Given the description of an element on the screen output the (x, y) to click on. 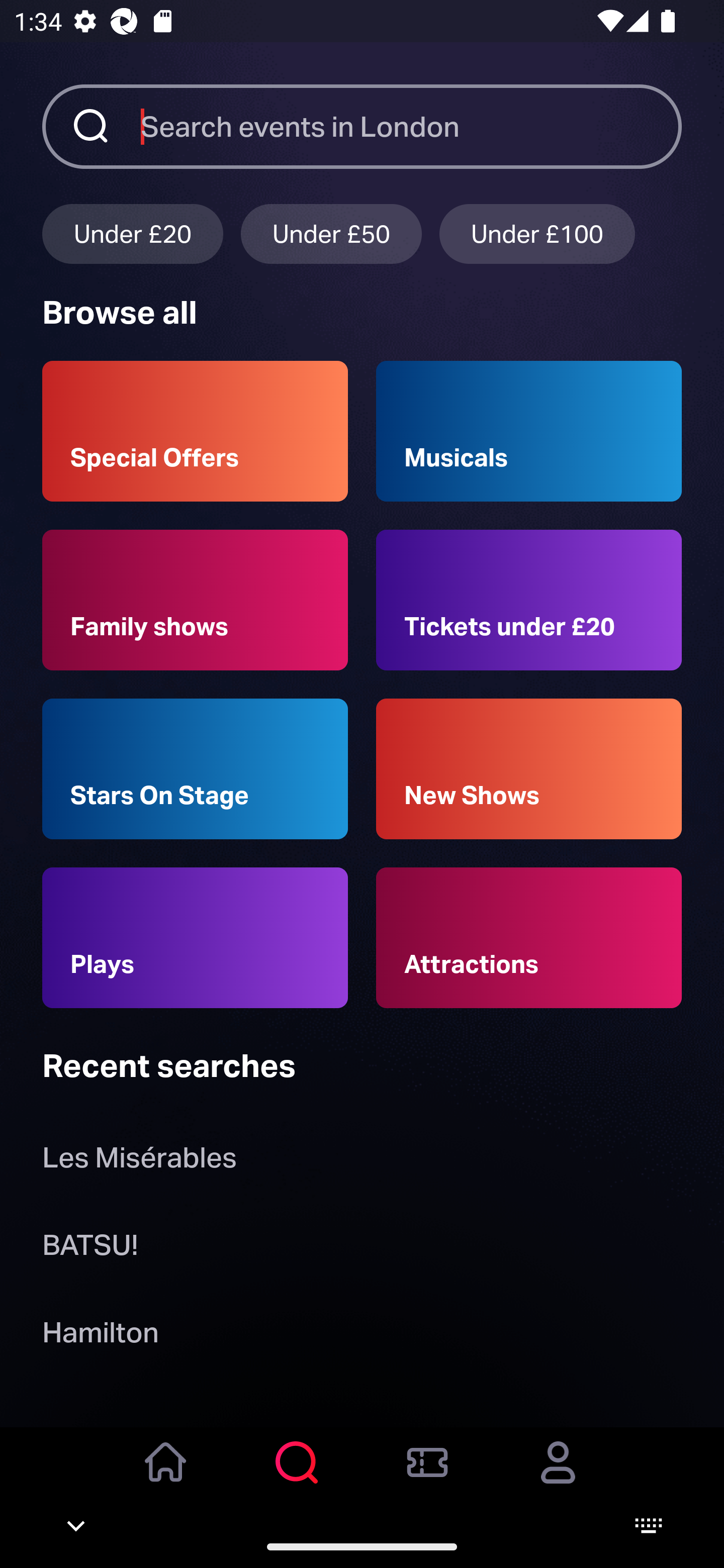
Search events in London (411, 126)
Under £20 (131, 233)
Under £50 (331, 233)
Under £100 (536, 233)
Special Offers (194, 430)
Musicals (528, 430)
Family shows (194, 600)
Tickets under £20  (528, 600)
Stars On Stage (194, 768)
New Shows (528, 768)
Plays (194, 937)
Attractions  (528, 937)
Les Misérables (138, 1161)
BATSU! (89, 1248)
Hamilton (99, 1335)
Home (165, 1475)
Orders (427, 1475)
Account (558, 1475)
